Given the description of an element on the screen output the (x, y) to click on. 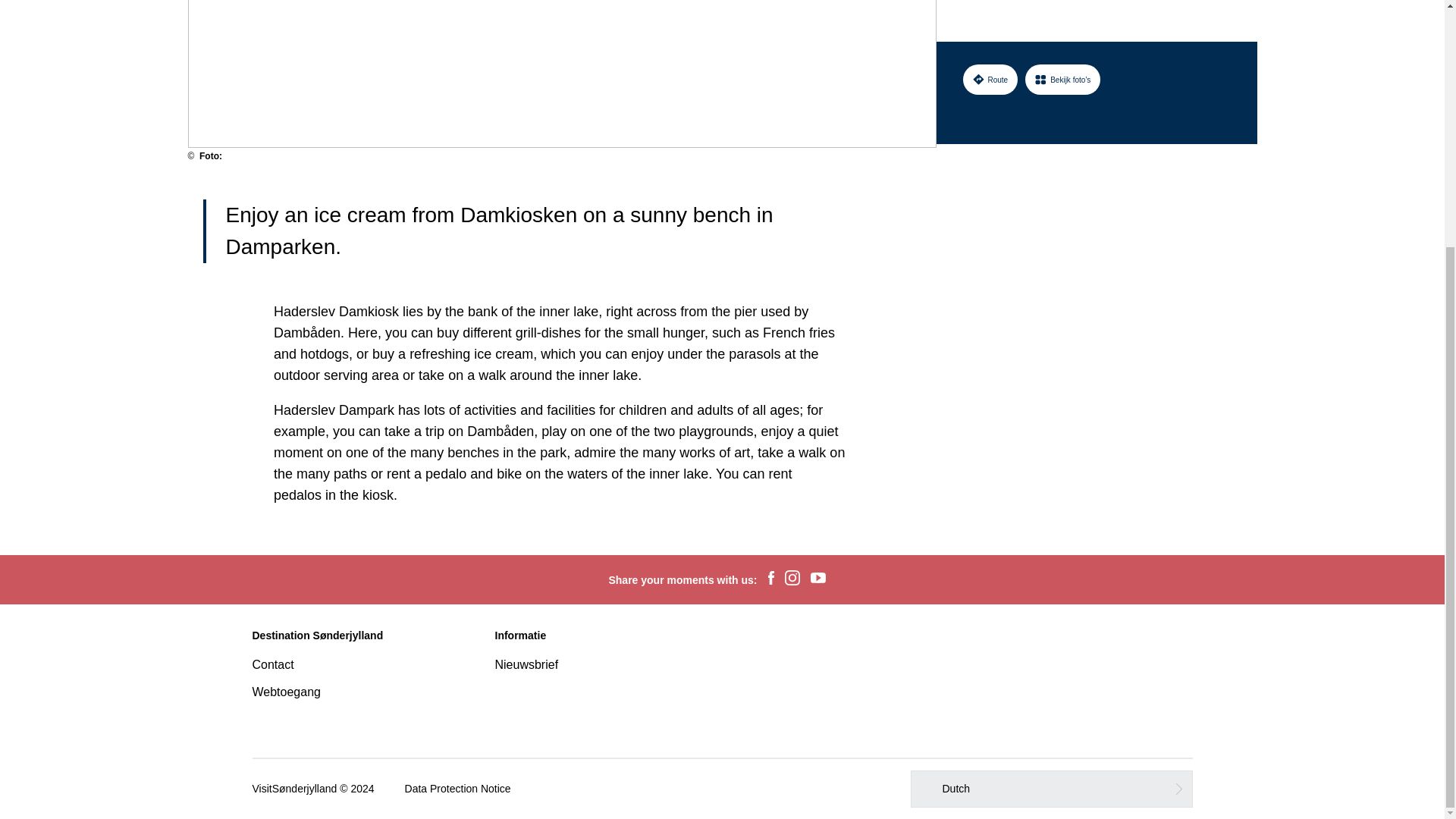
Nieuwsbrief (526, 664)
Webtoegang (285, 691)
Contact (272, 664)
facebook (770, 579)
Nieuwsbrief (526, 664)
Webtoegang (285, 691)
instagram (791, 579)
youtube (818, 579)
Data Protection Notice (457, 788)
Contact (272, 664)
Data Protection Notice (457, 788)
